Given the description of an element on the screen output the (x, y) to click on. 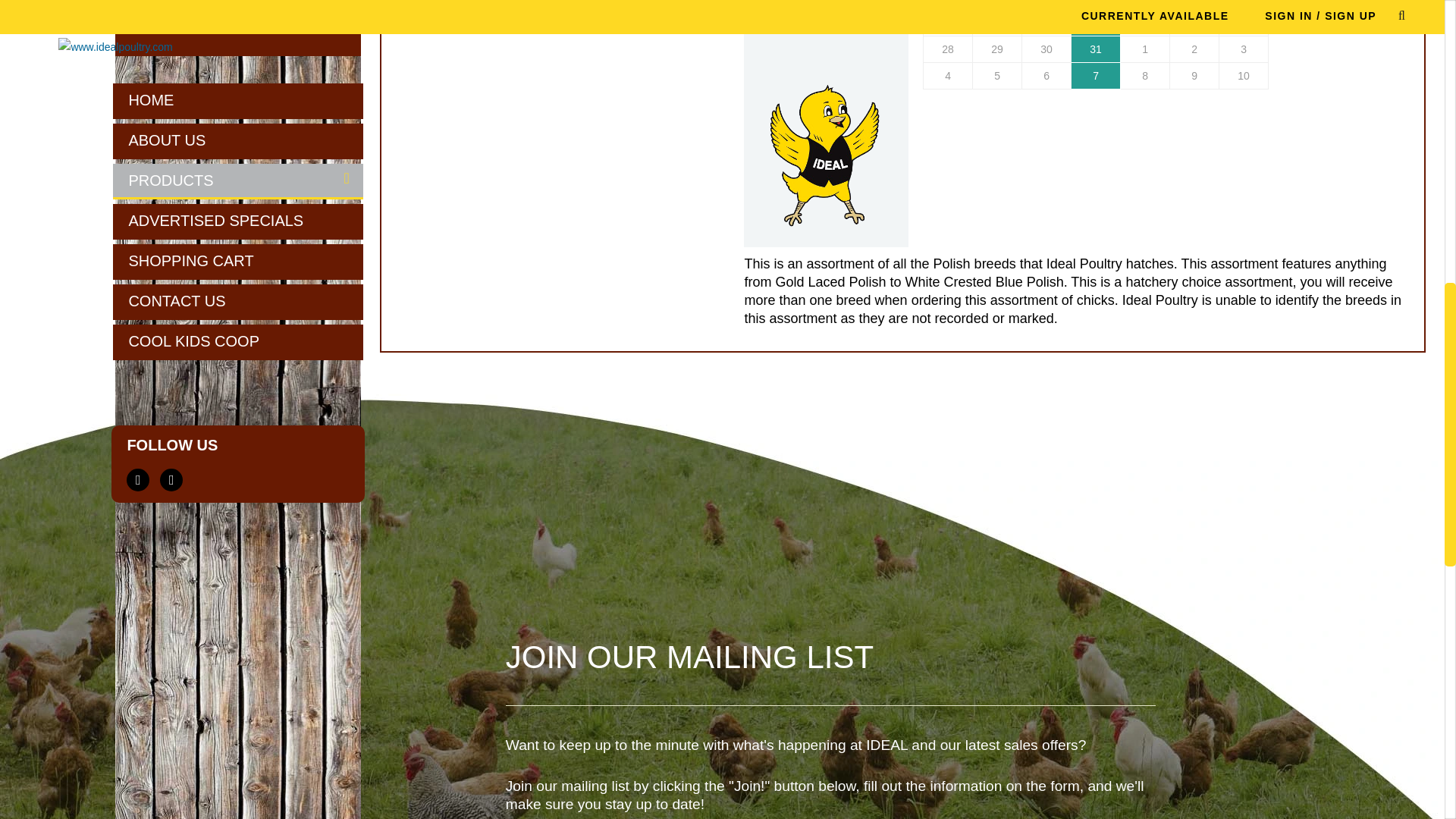
Available Shipping Dates (1096, 49)
Available Shipping Dates (1096, 76)
Available Shipping Dates (1096, 22)
